Given the description of an element on the screen output the (x, y) to click on. 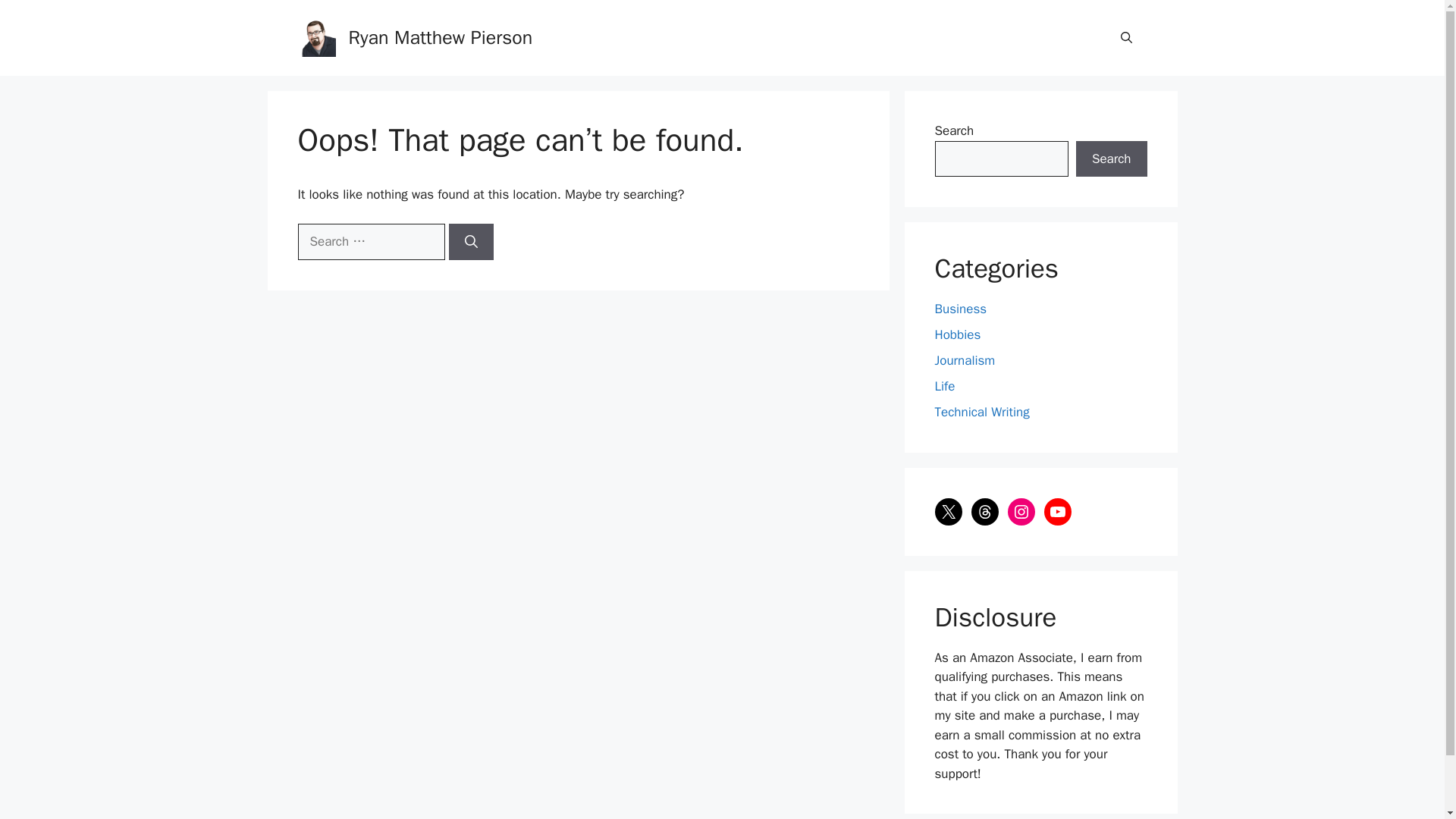
X (947, 510)
Life (944, 385)
Search (1111, 158)
YouTube (1056, 510)
Business (960, 308)
Journalism (964, 360)
Instagram (1020, 510)
Threads (984, 510)
Search for: (370, 241)
Hobbies (956, 334)
Ryan Matthew Pierson (440, 37)
Technical Writing (981, 412)
